Given the description of an element on the screen output the (x, y) to click on. 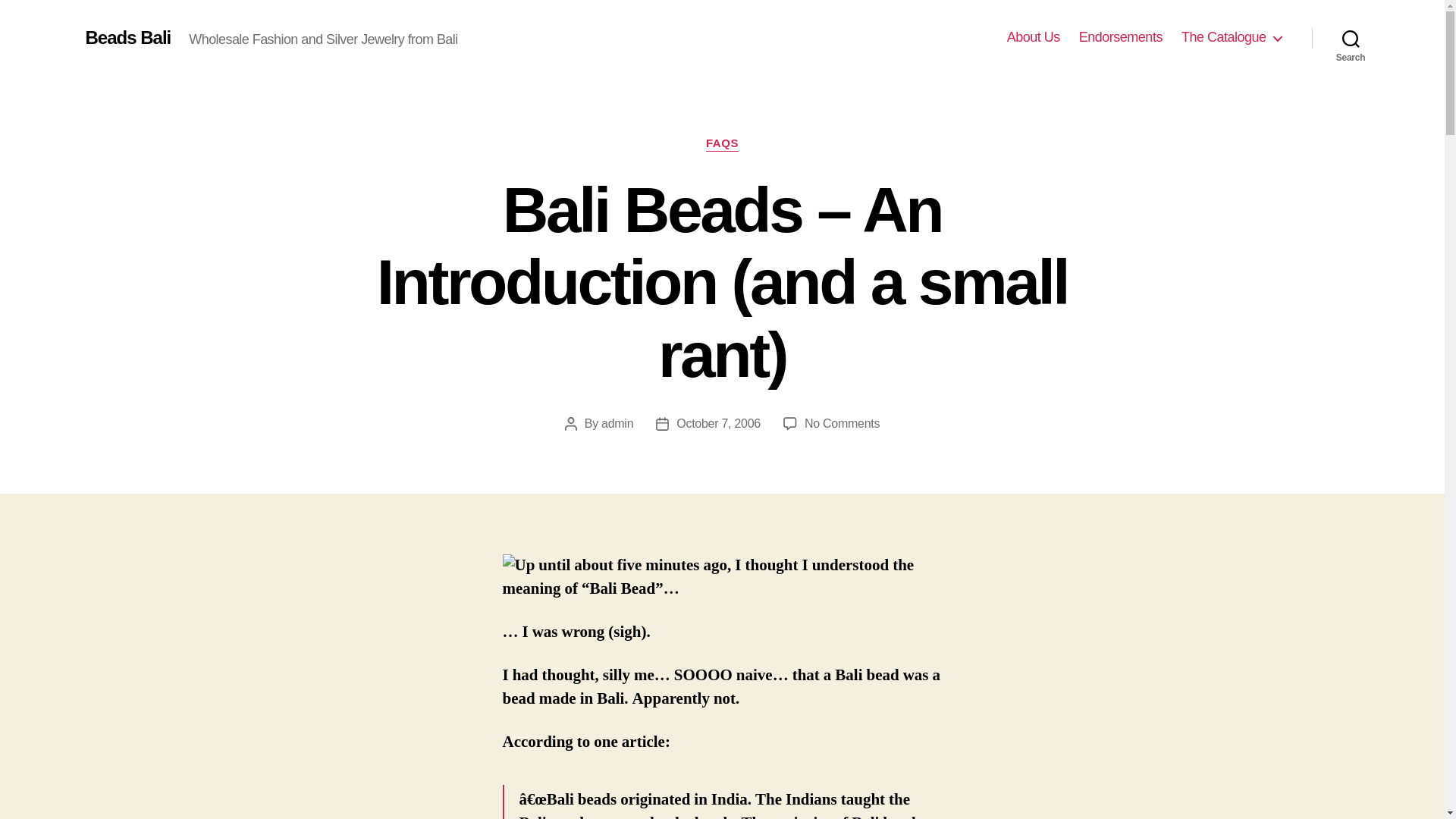
Beads Bali (127, 37)
October 7, 2006 (718, 422)
admin (617, 422)
Endorsements (1119, 37)
FAQS (722, 143)
About Us (1033, 37)
Search (1350, 37)
The Catalogue (1230, 37)
